Given the description of an element on the screen output the (x, y) to click on. 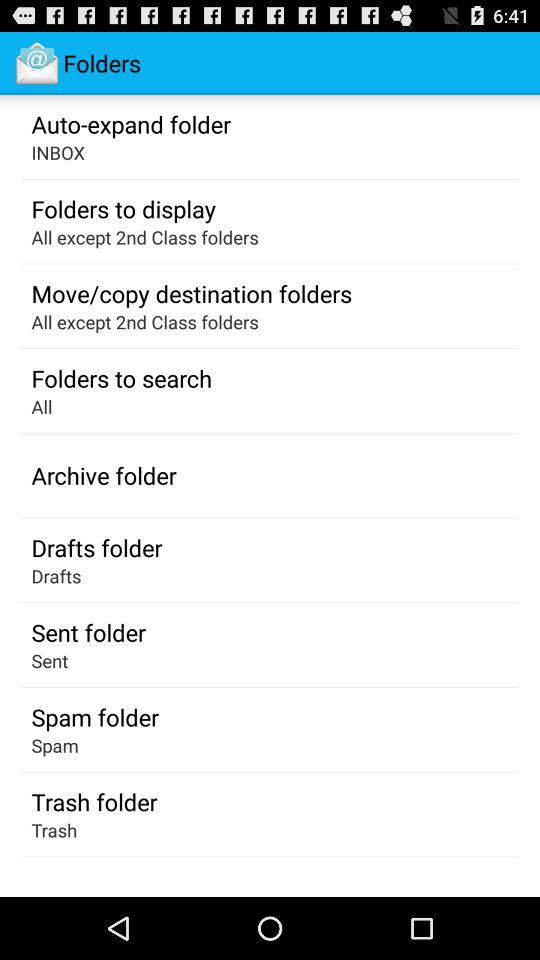
select archive folder (103, 475)
